Given the description of an element on the screen output the (x, y) to click on. 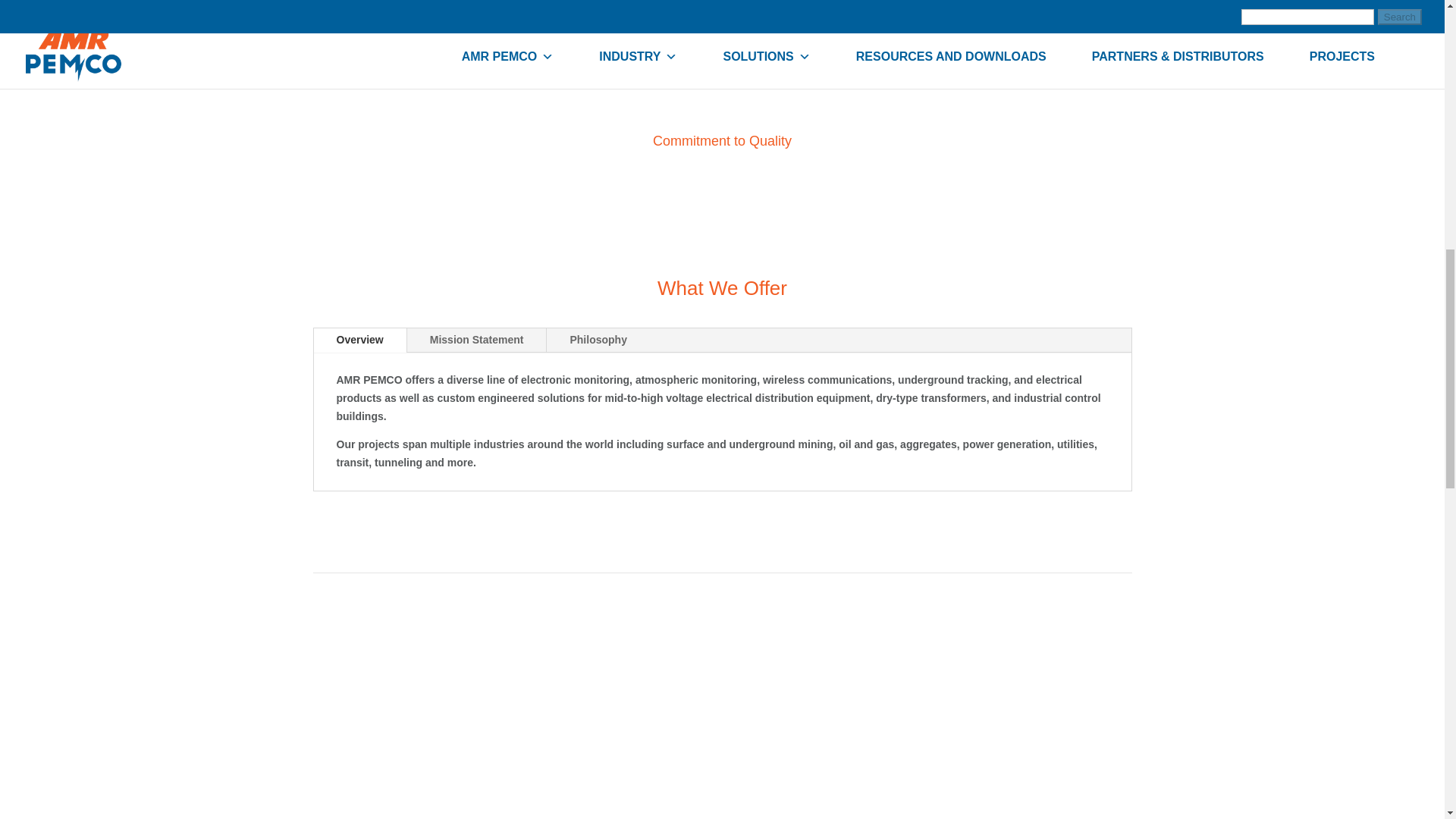
Mission Statement (477, 340)
Overview (360, 340)
